Given the description of an element on the screen output the (x, y) to click on. 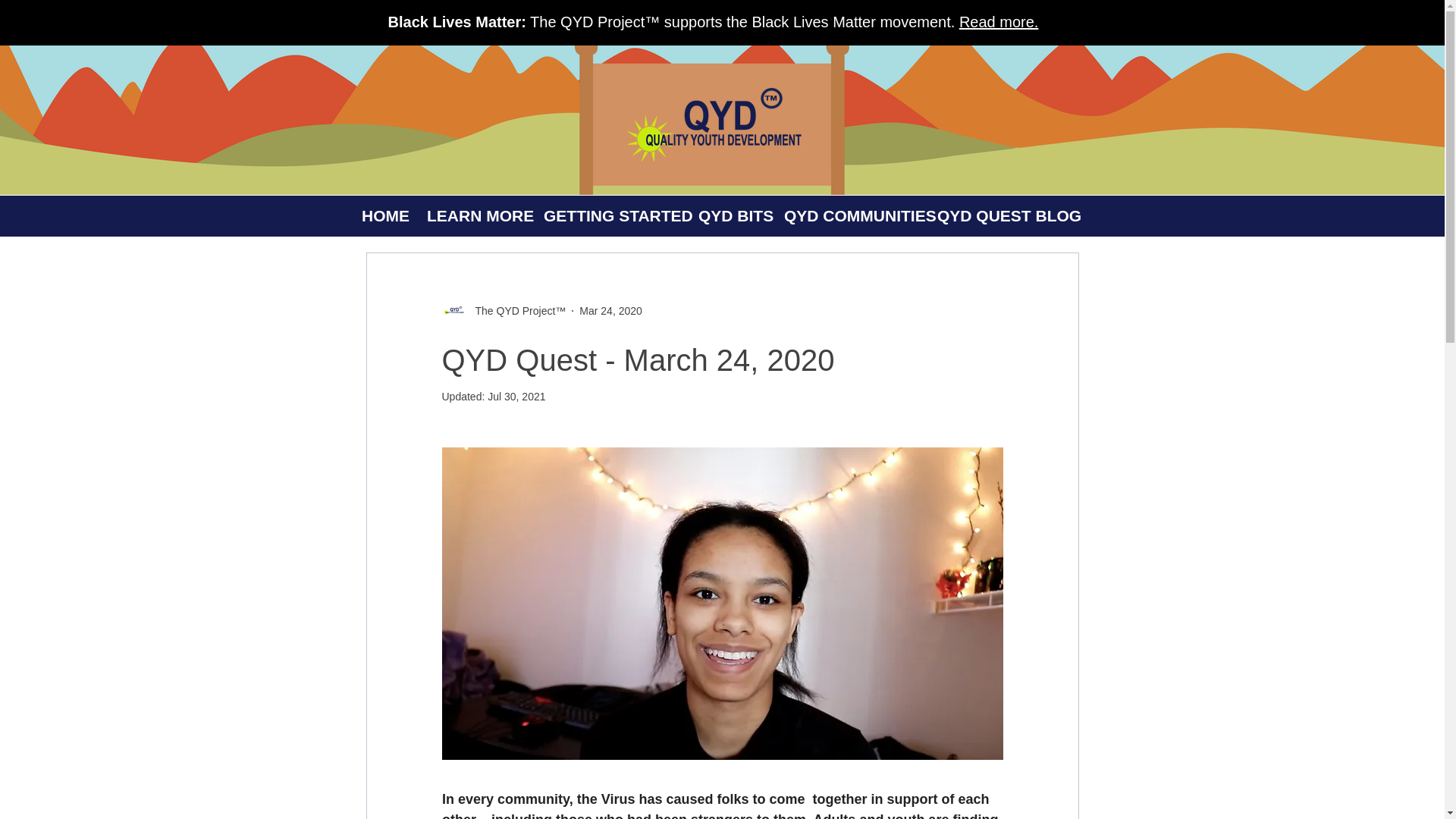
QYD COMMUNITIES (847, 215)
QYD QUEST BLOG (996, 215)
HOME (381, 215)
Read more. (999, 21)
QYD BITS (728, 215)
Mar 24, 2020 (610, 310)
Jul 30, 2021 (515, 396)
